Given the description of an element on the screen output the (x, y) to click on. 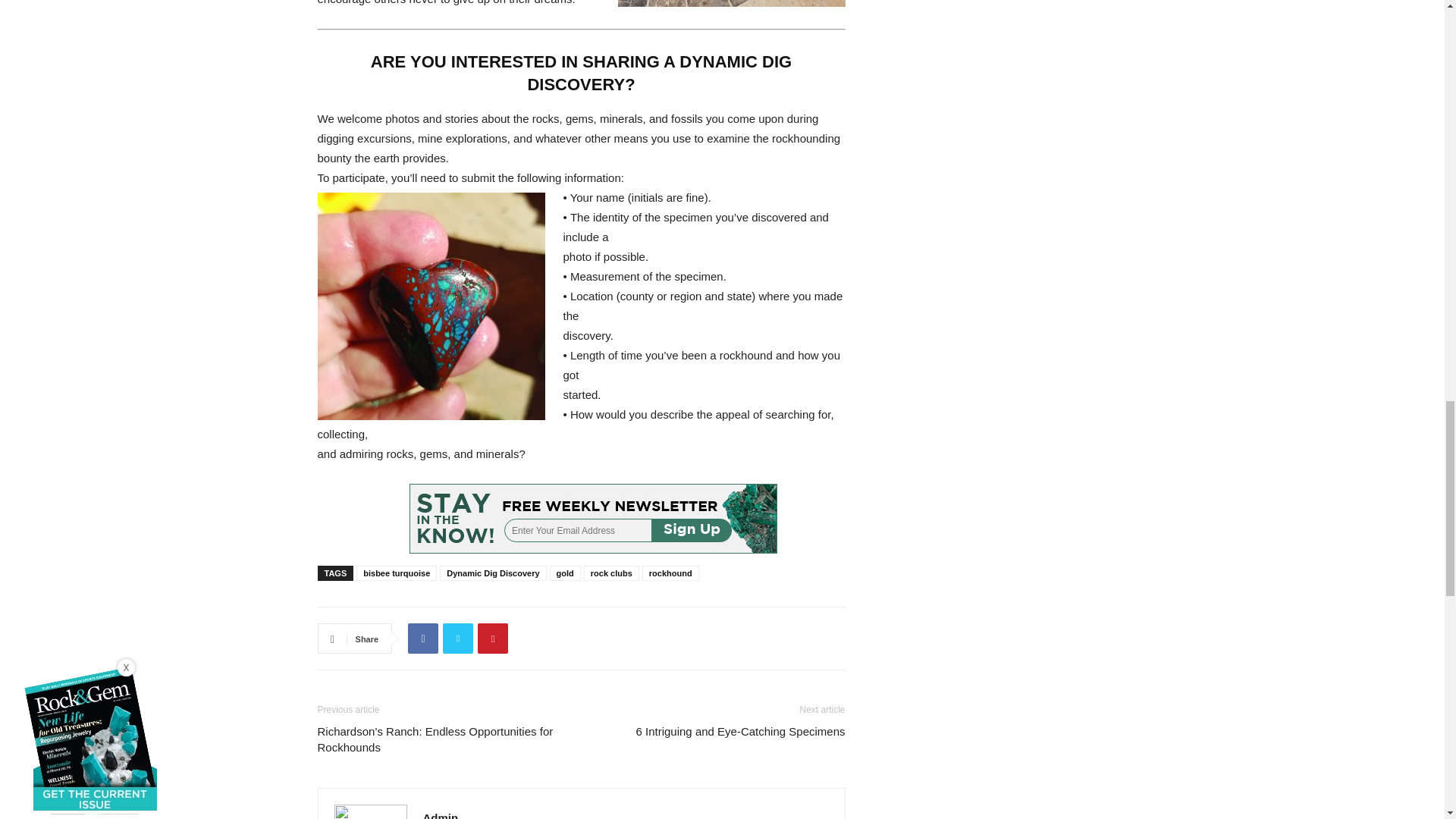
Thank You for Subscribing ! (593, 518)
Please enter valid email-id ! (593, 518)
